Given the description of an element on the screen output the (x, y) to click on. 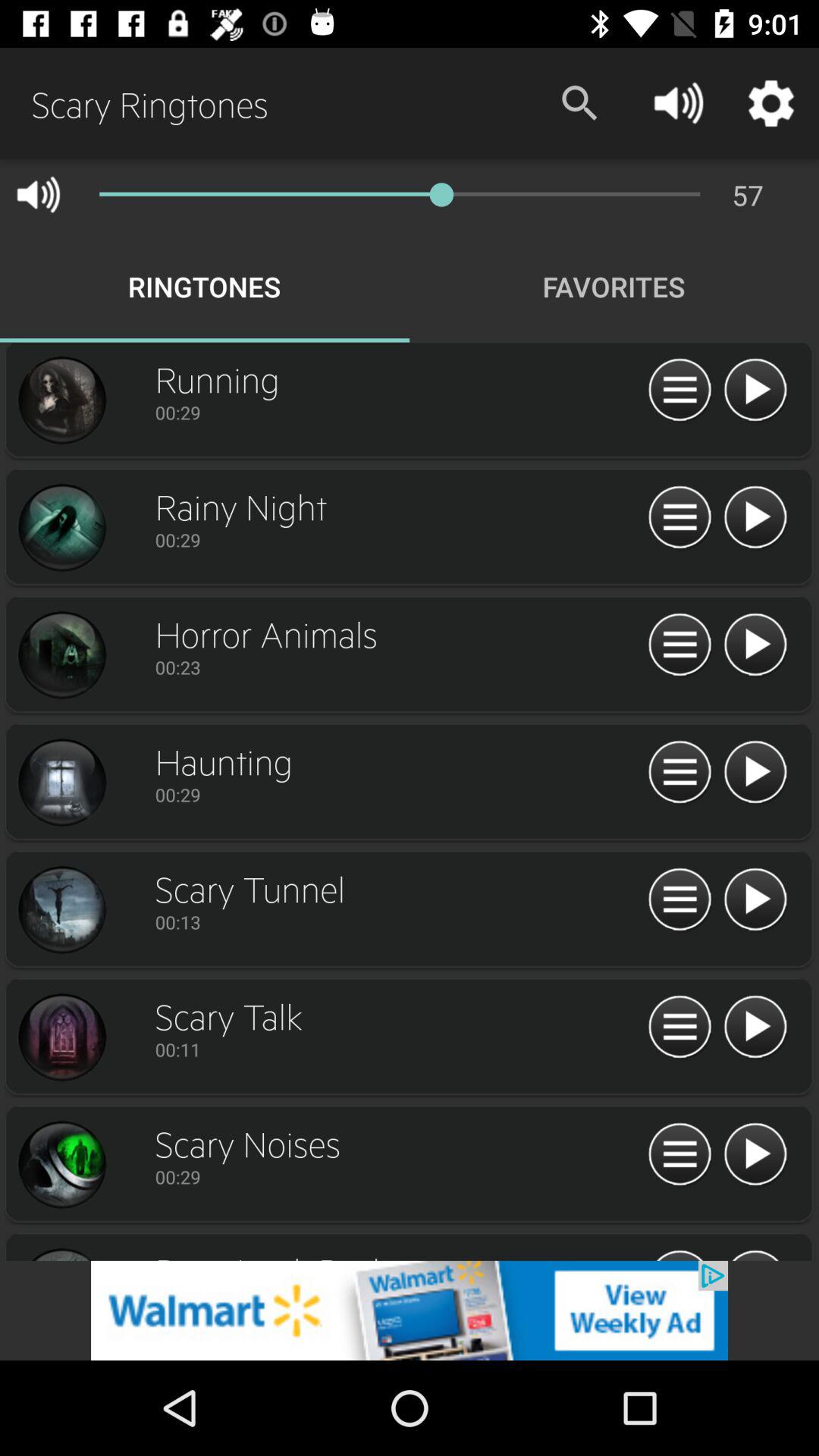
pause playing (679, 390)
